Given the description of an element on the screen output the (x, y) to click on. 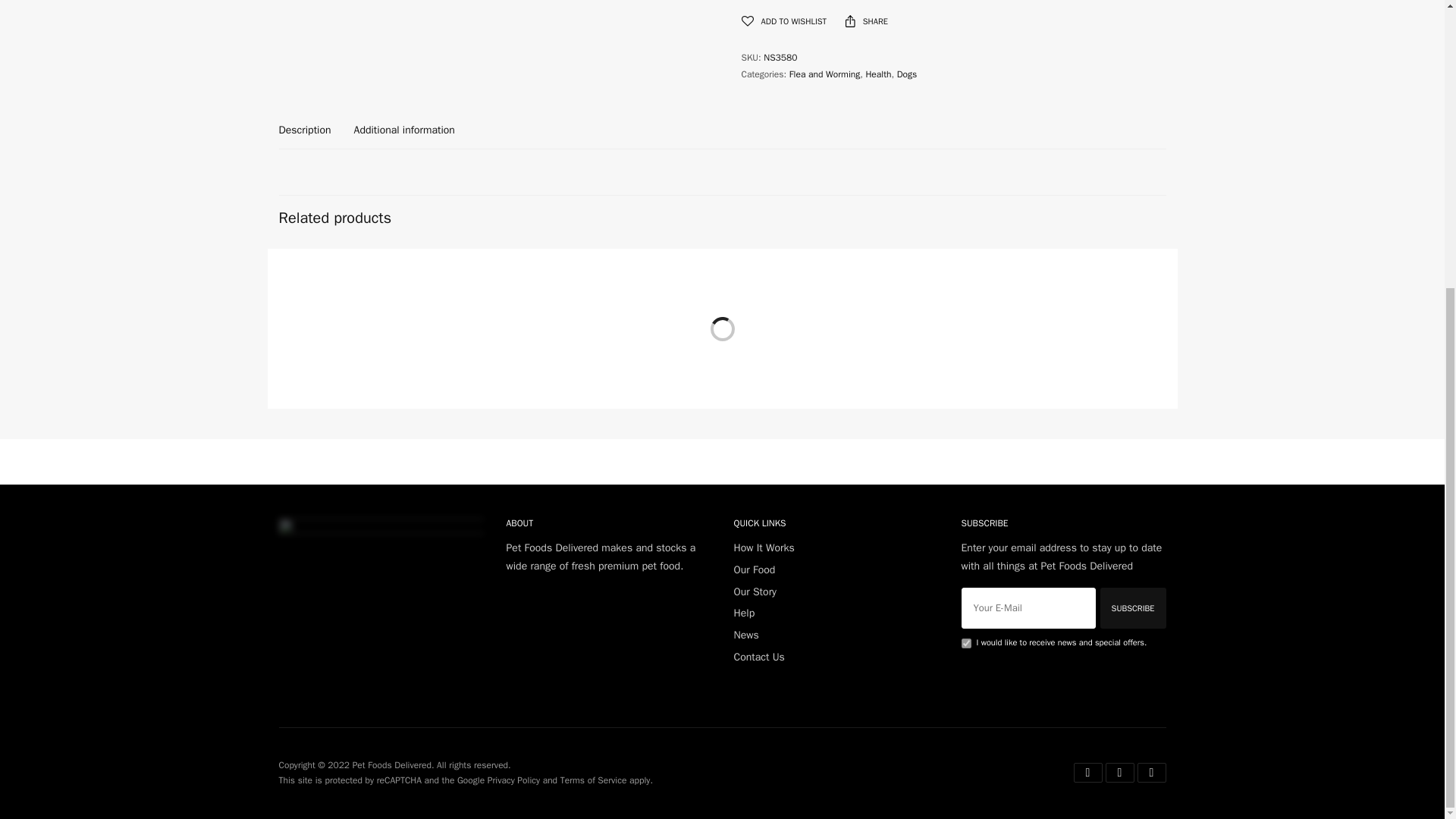
Roo Jerky (380, 260)
Pressed Bones (608, 260)
Roo Tail (769, 294)
Roo Jerky (318, 294)
Roo Tail (835, 260)
on (965, 643)
Pet-Rite Bickies Chicken (1036, 294)
Pet-Rite Bickies Chicken (1062, 260)
Pressed Bones (558, 294)
